Given the description of an element on the screen output the (x, y) to click on. 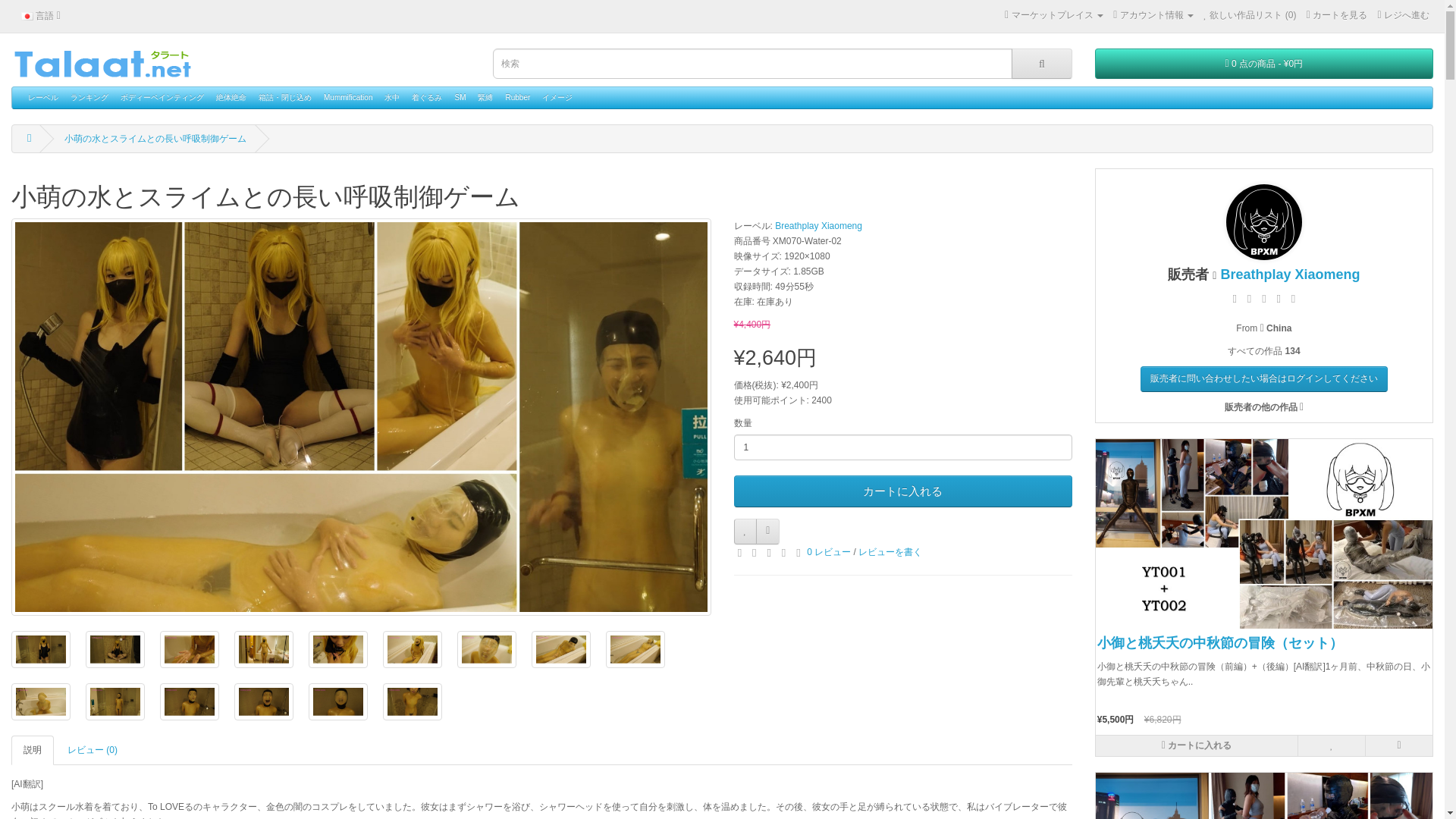
1 (902, 447)
Talaat (102, 63)
